Given the description of an element on the screen output the (x, y) to click on. 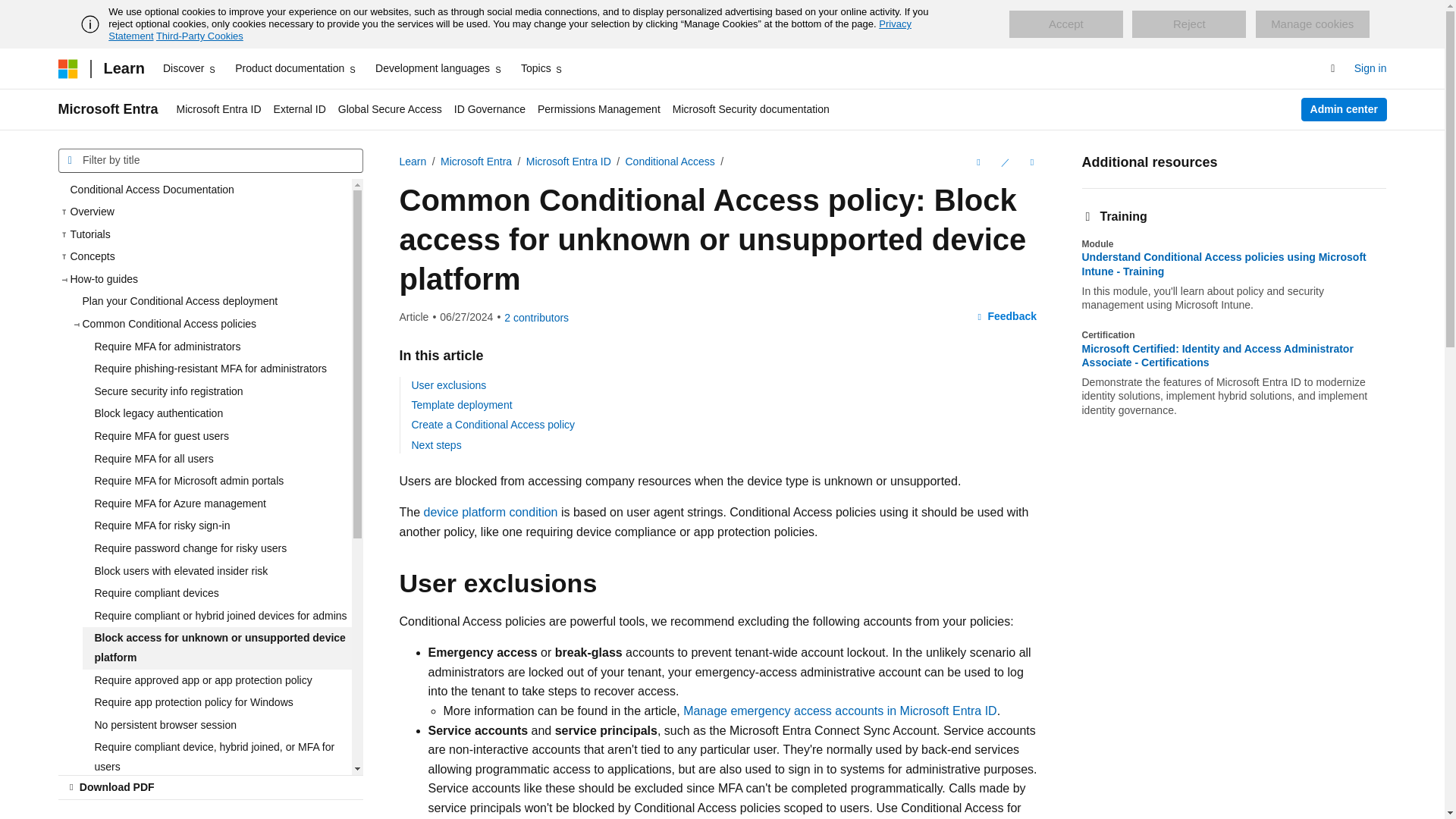
Manage cookies (1312, 23)
Permissions Management (598, 109)
Skip to main content (11, 11)
Sign in (1370, 68)
Require phishing-resistant MFA for administrators (215, 368)
Microsoft Entra ID (218, 109)
Topics (542, 68)
Conditional Access Documentation (204, 190)
Accept (1065, 23)
Development languages (438, 68)
